Given the description of an element on the screen output the (x, y) to click on. 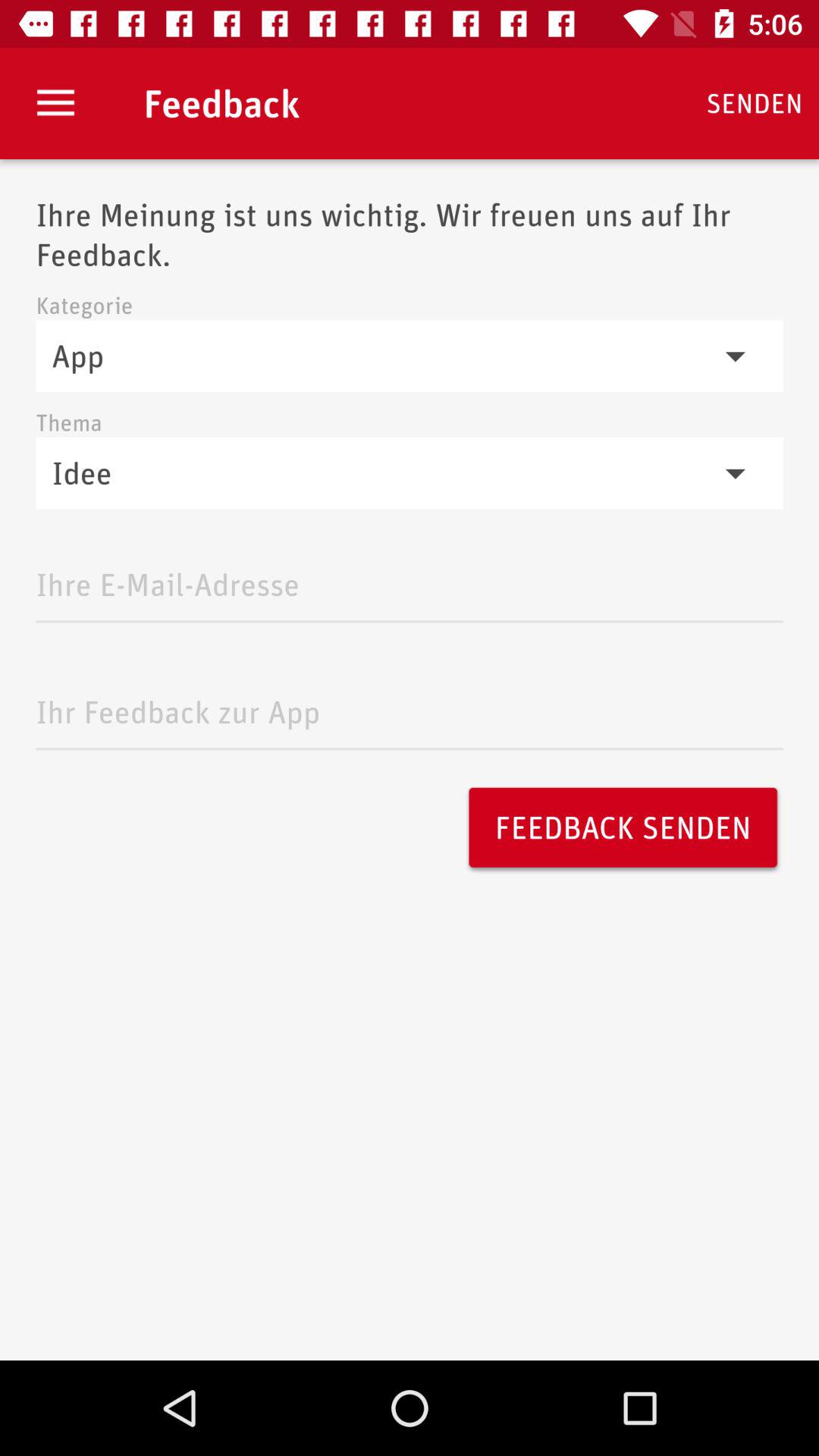
enter your e-mail address (409, 580)
